Given the description of an element on the screen output the (x, y) to click on. 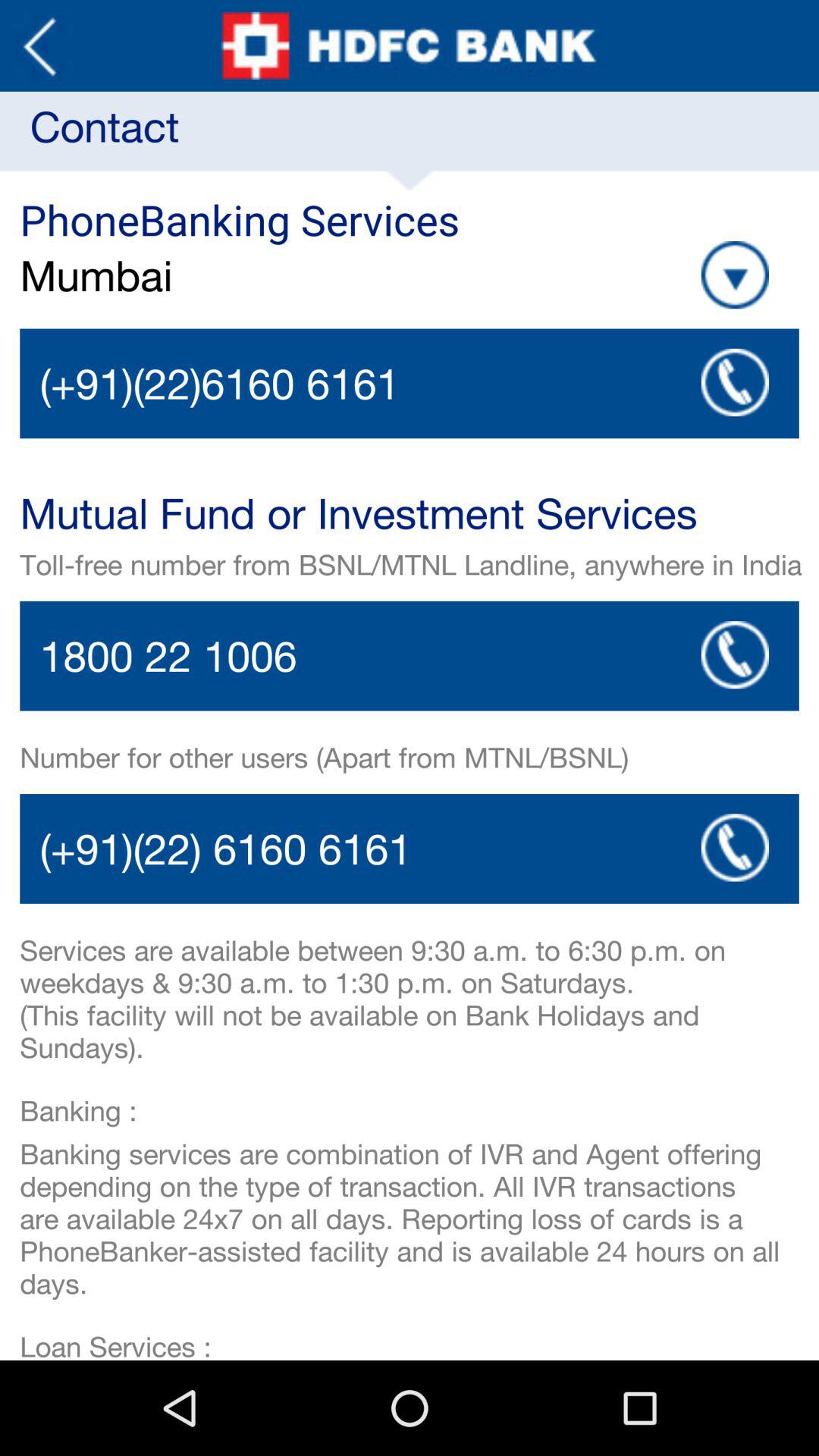
go back (39, 45)
